Given the description of an element on the screen output the (x, y) to click on. 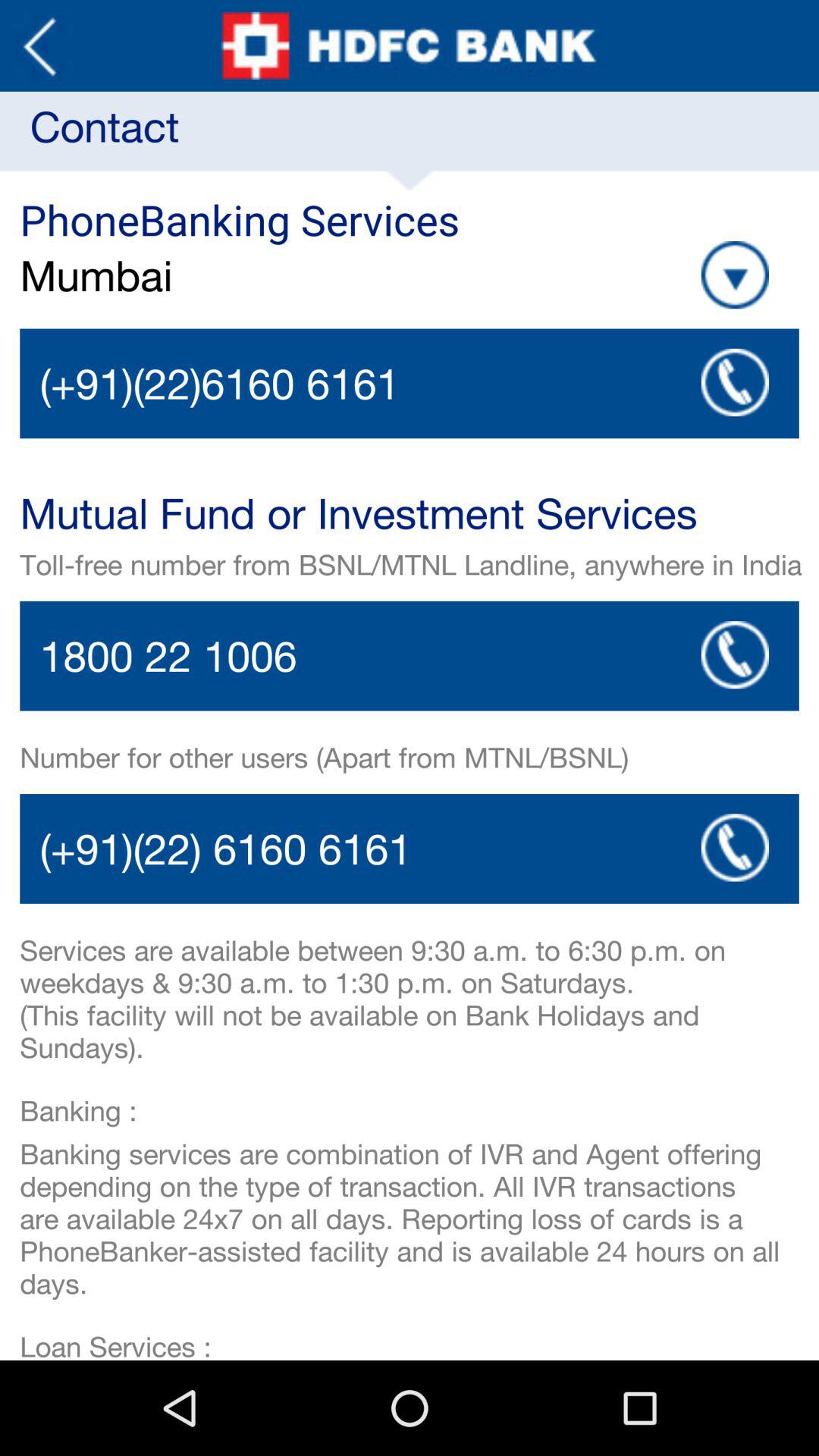
go back (39, 45)
